Given the description of an element on the screen output the (x, y) to click on. 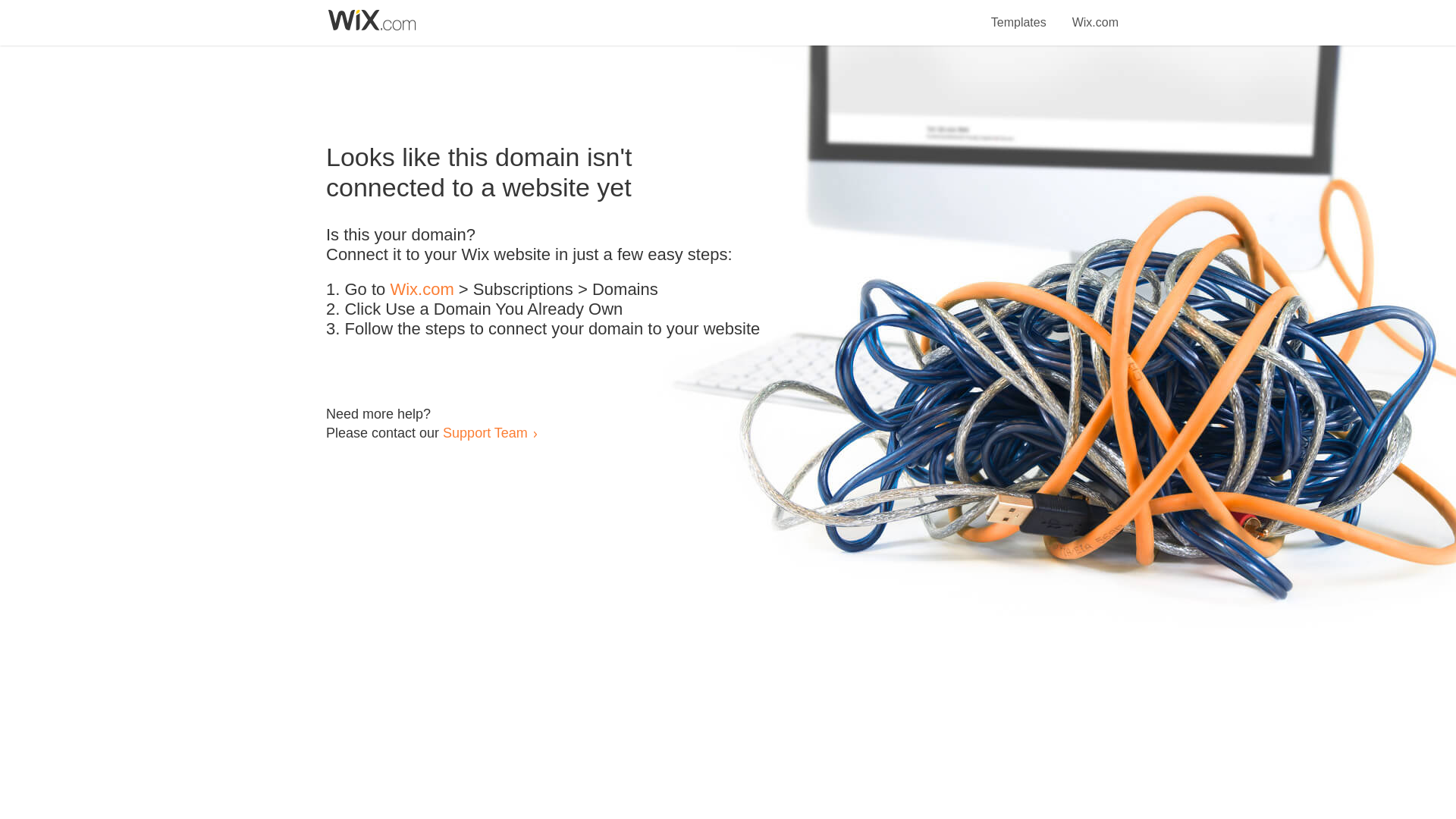
Wix.com (1095, 14)
Support Team (484, 432)
Wix.com (421, 289)
Templates (1018, 14)
